Given the description of an element on the screen output the (x, y) to click on. 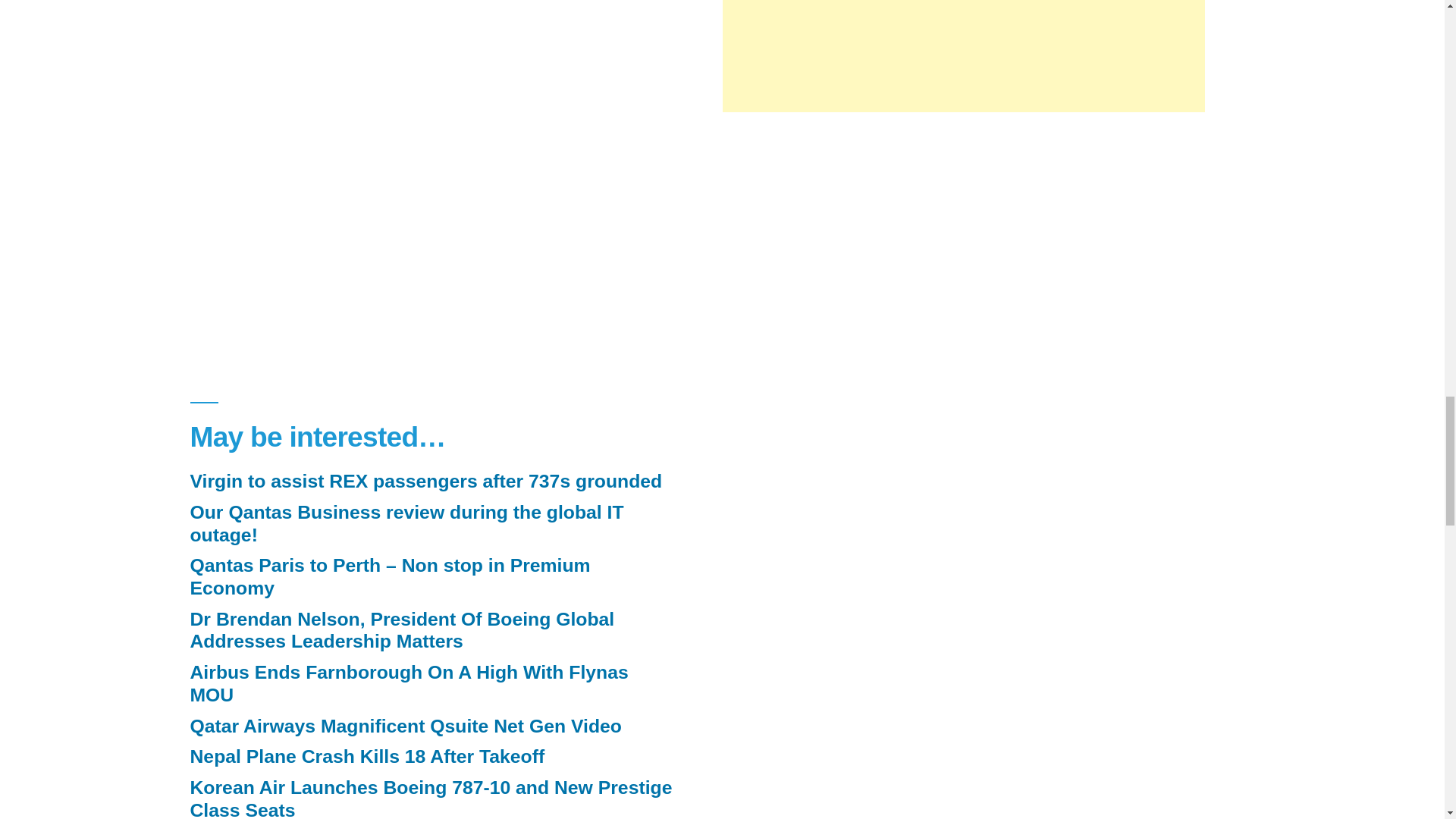
Our Qantas Business review during the global IT outage! (406, 523)
Advertisement (963, 234)
Qatar Airways Magnificent Qsuite Net Gen Video (405, 725)
LiveInternet (733, 413)
Nepal Plane Crash Kills 18 After Takeoff (366, 756)
Virgin to assist REX passengers after 737s grounded (425, 480)
Airbus Ends Farnborough On A High With Flynas MOU (408, 683)
